Given the description of an element on the screen output the (x, y) to click on. 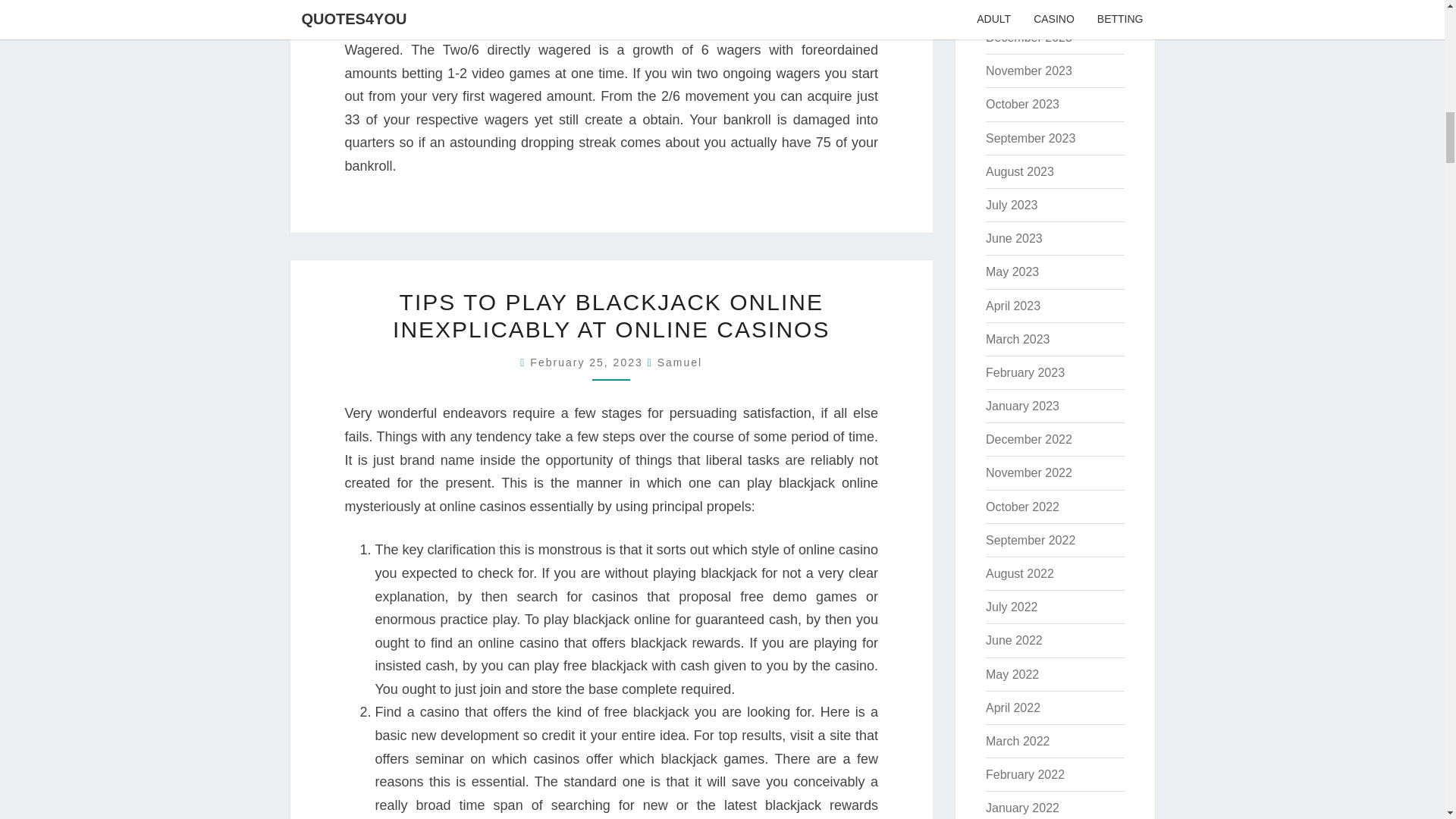
View all posts by Samuel (679, 362)
11:22 am (587, 362)
TIPS TO PLAY BLACKJACK ONLINE INEXPLICABLY AT ONLINE CASINOS (611, 315)
February 25, 2023 (587, 362)
Samuel (679, 362)
